Given the description of an element on the screen output the (x, y) to click on. 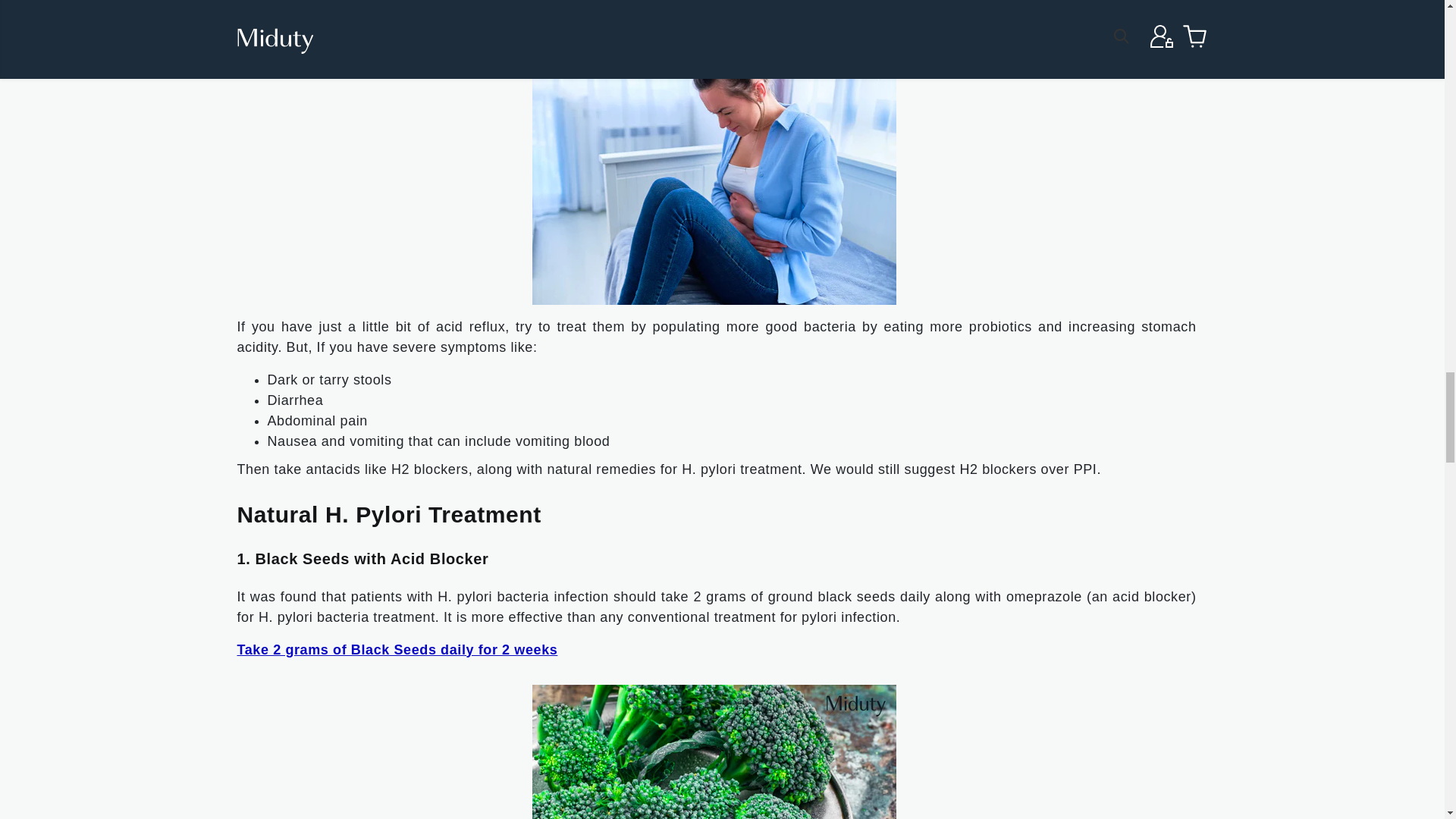
Take 2 grams of Black Seeds daily for 2 weeks (396, 648)
